Given the description of an element on the screen output the (x, y) to click on. 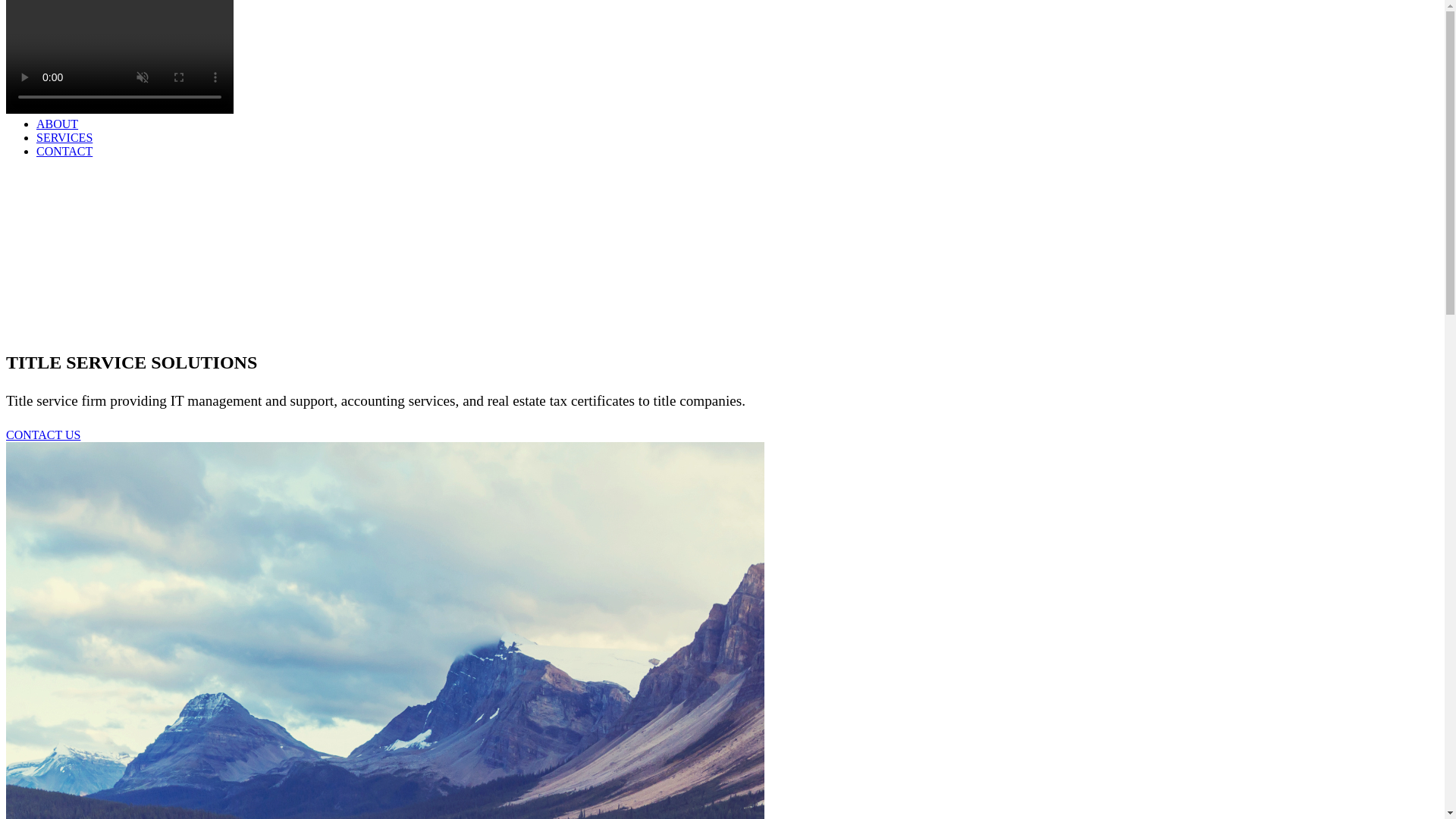
CONTACT (64, 151)
CONTACT US (42, 434)
SERVICES (64, 137)
ABOUT (57, 123)
